Given the description of an element on the screen output the (x, y) to click on. 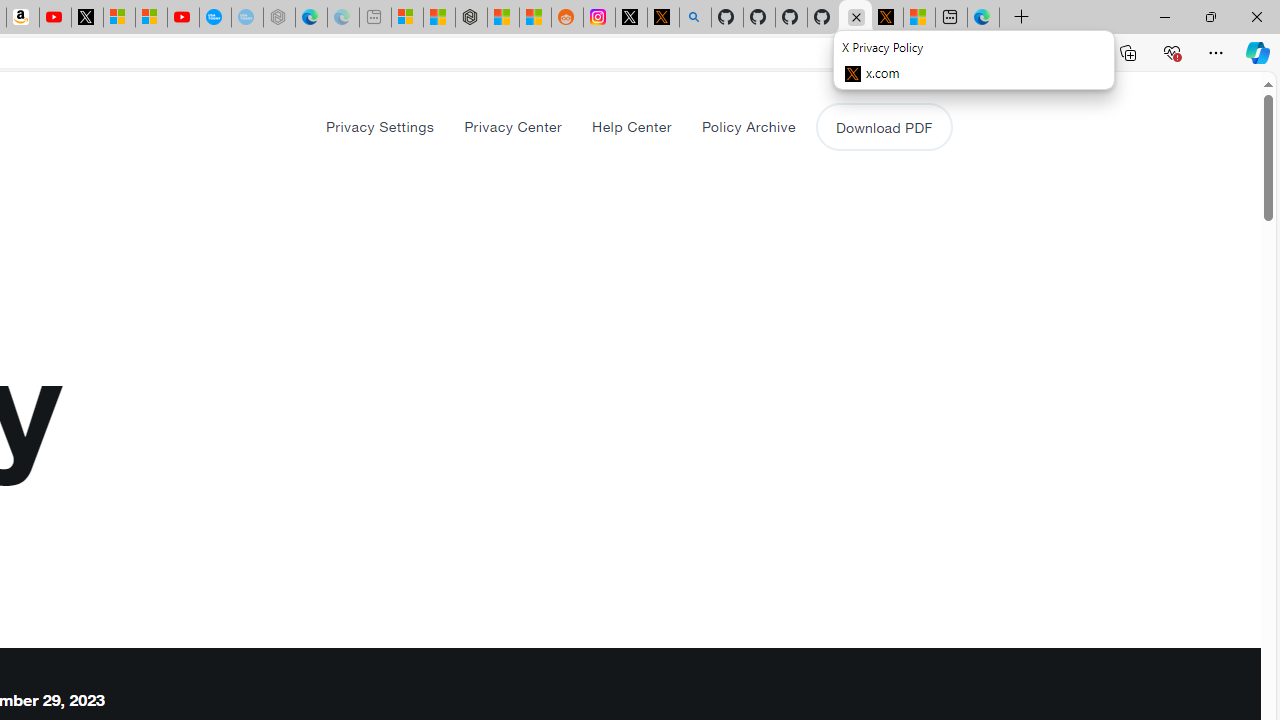
Log in to X / X (630, 17)
Privacy Settings (379, 126)
